Given the description of an element on the screen output the (x, y) to click on. 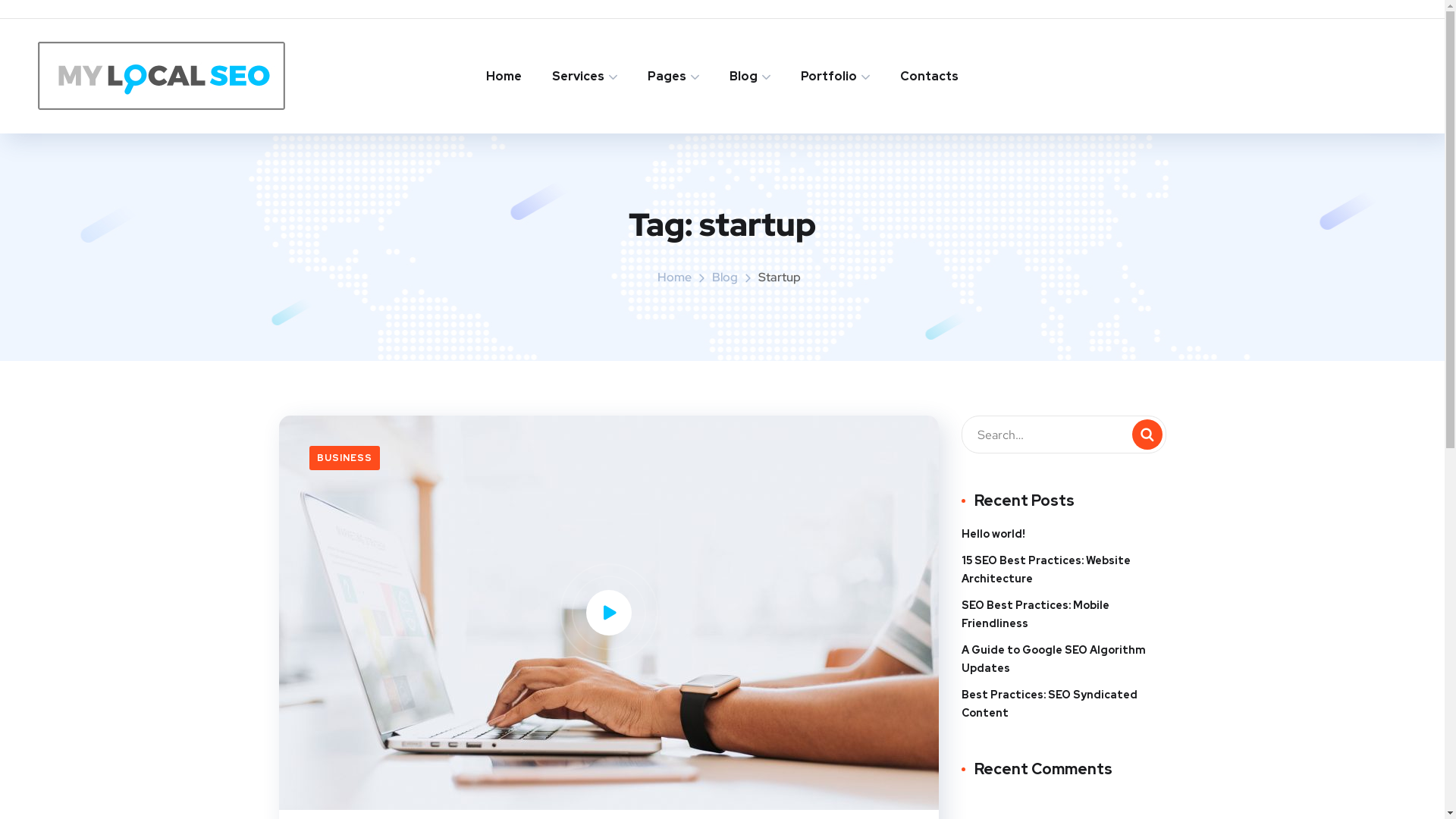
Hello world! Element type: text (993, 533)
Home Element type: text (674, 277)
A Guide to Google SEO Algorithm Updates Element type: text (1063, 658)
Home Element type: text (503, 75)
15 SEO Best Practices: Website Architecture Element type: text (1063, 569)
Blog Element type: text (724, 277)
Services Element type: text (584, 75)
Portfolio Element type: text (834, 75)
Blog Element type: text (749, 75)
Pages Element type: text (673, 75)
SEO Best Practices: Mobile Friendliness Element type: text (1063, 614)
Best Practices: SEO Syndicated Content Element type: text (1063, 703)
BUSINESS Element type: text (344, 457)
Contacts Element type: text (929, 75)
